Given the description of an element on the screen output the (x, y) to click on. 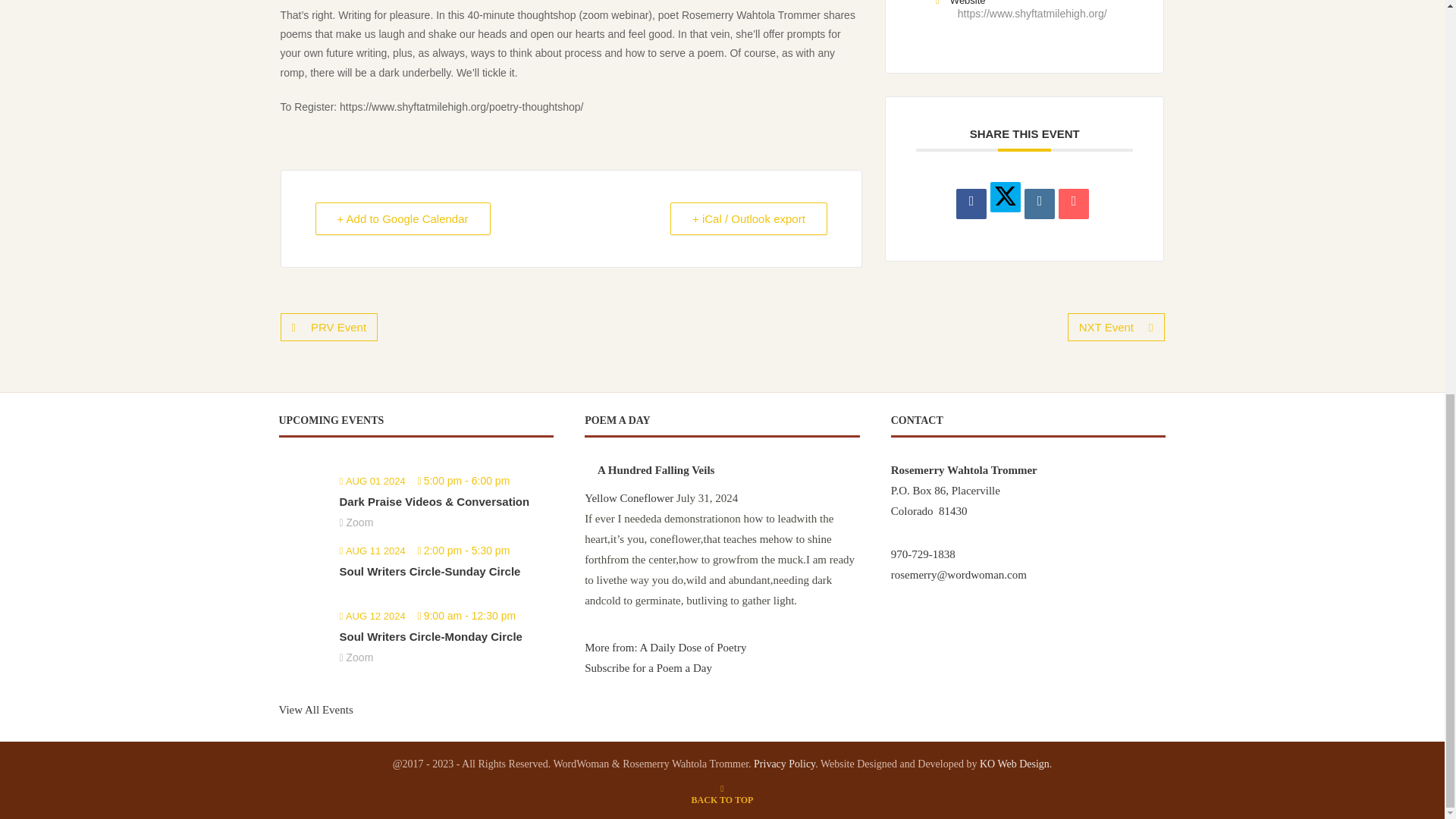
Email (1073, 204)
Yellow Coneflower (628, 498)
View All Events (316, 709)
Soul Writers Circle-Sunday Circle (430, 571)
More from: A Daily Dose of Poetry (665, 647)
NXT Event (1115, 326)
Linkedin (1039, 204)
X Social Network (1005, 196)
PRV Event (329, 326)
A Hundred Falling Veils (655, 469)
Share on Facebook (971, 204)
Soul Writers Circle-Monday Circle (430, 635)
